Given the description of an element on the screen output the (x, y) to click on. 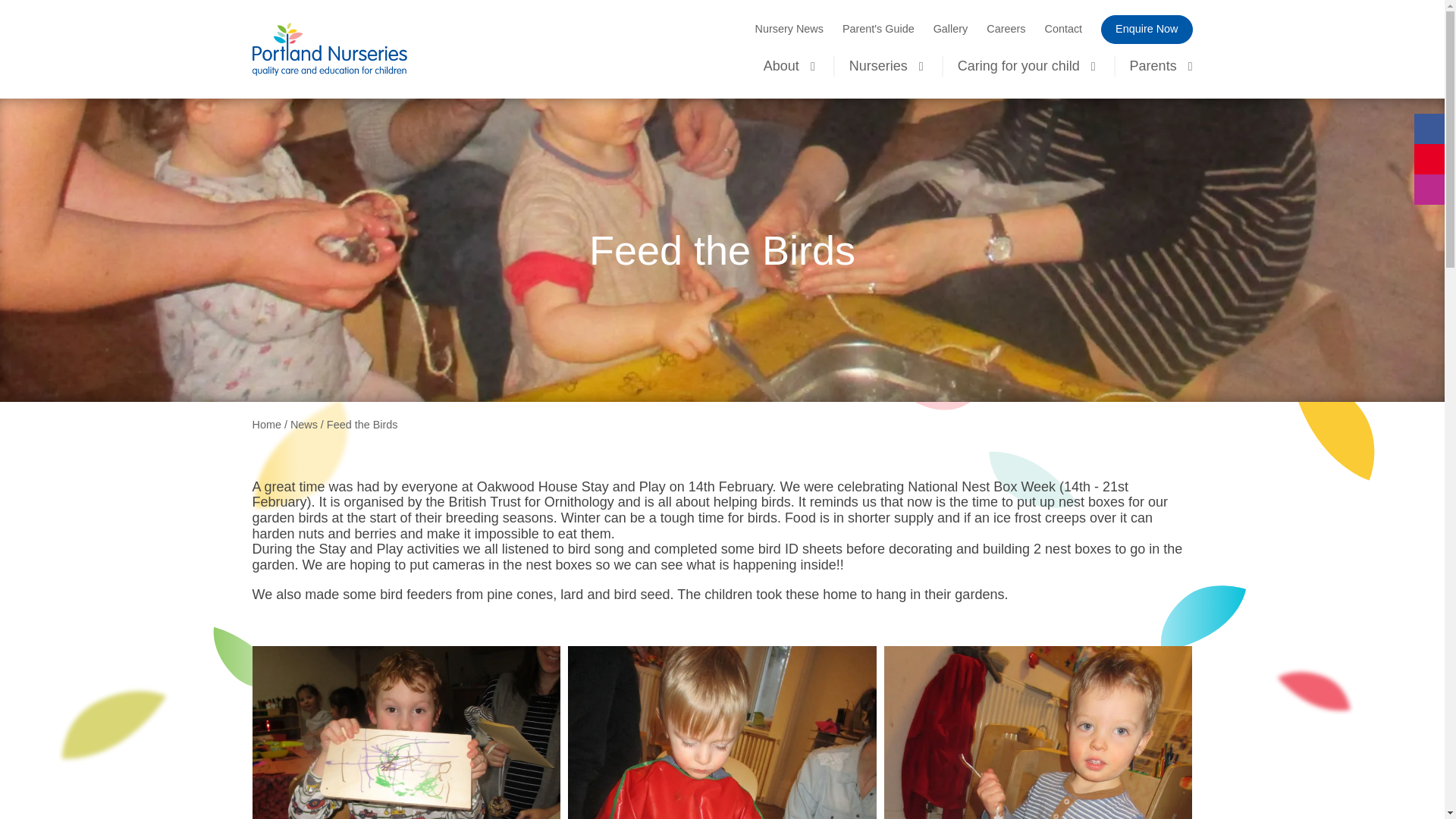
Caring for your child (1019, 66)
Contact (1062, 29)
Nursery News (789, 29)
Gallery (950, 29)
Careers (1006, 29)
Parents (1152, 66)
Enquire Now (1146, 29)
About (780, 66)
Parent's Guide (878, 29)
Nurseries (877, 66)
